Given the description of an element on the screen output the (x, y) to click on. 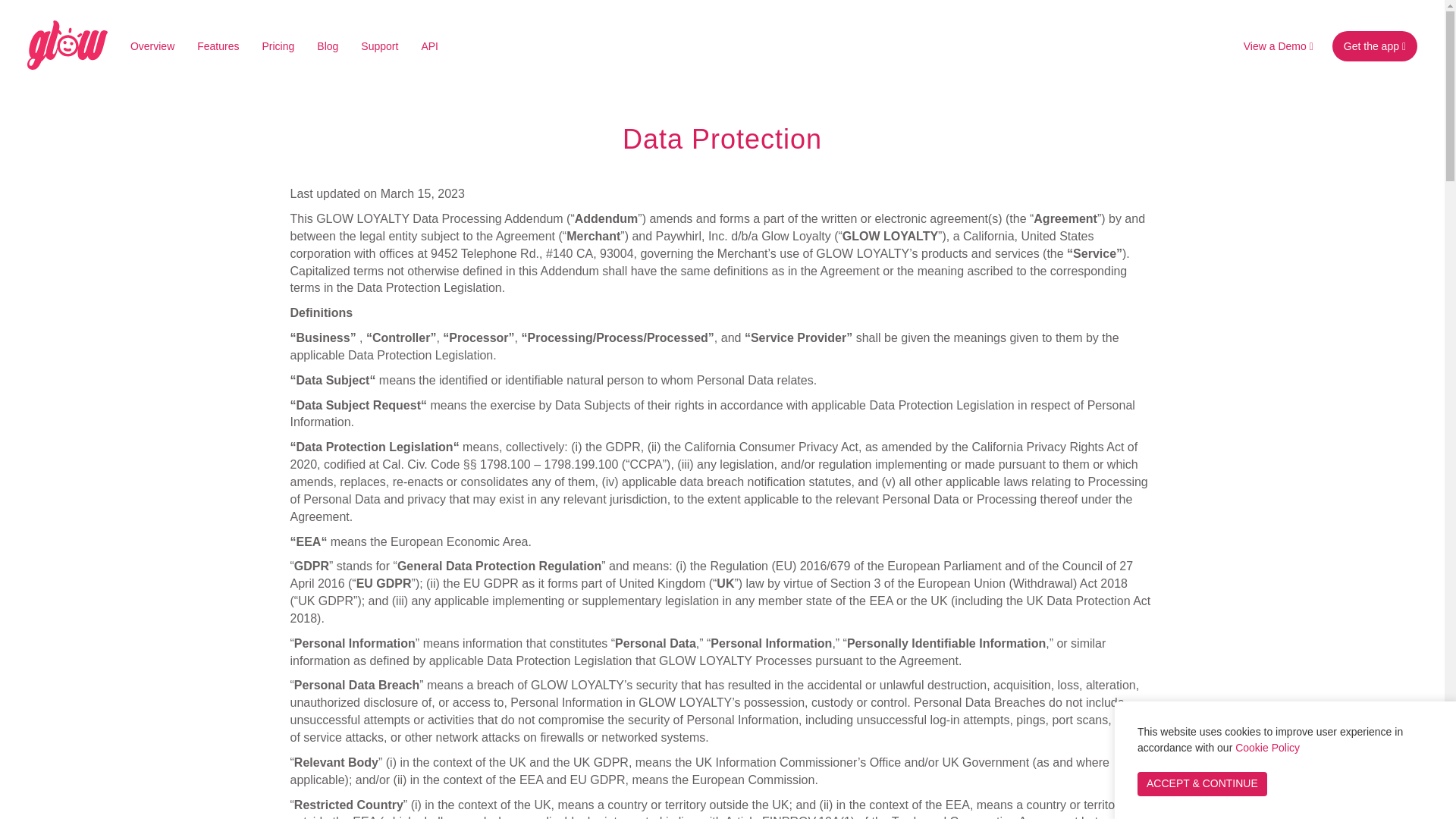
Get the app (1374, 46)
Pricing (277, 46)
API (429, 46)
Features (218, 46)
Blog (327, 46)
View a Demo (1277, 46)
Cookie Policy (1267, 747)
Support (379, 46)
Overview (152, 46)
